Given the description of an element on the screen output the (x, y) to click on. 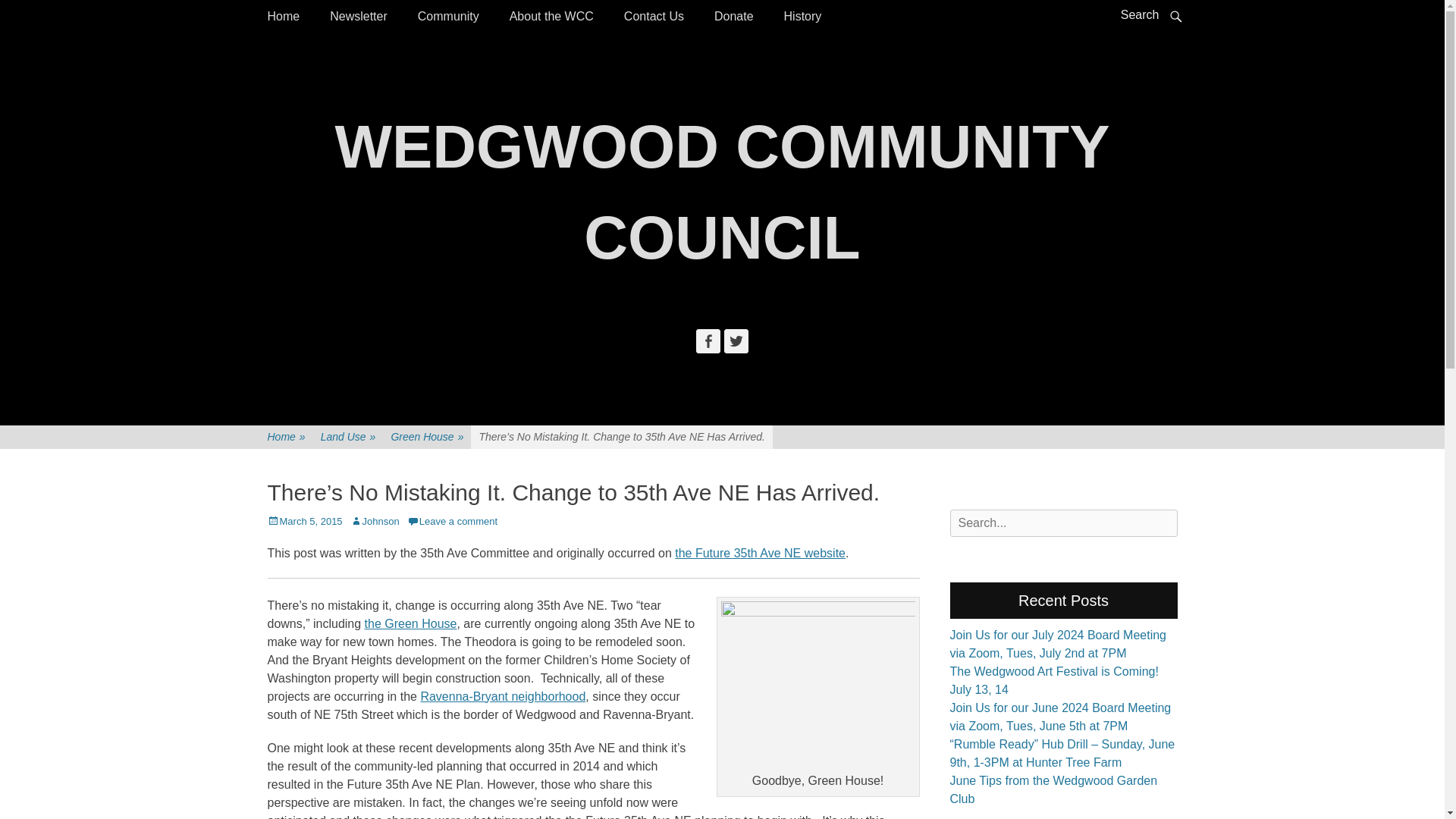
Search for: (1062, 523)
Contact Us (653, 16)
Home (282, 16)
Leave a comment (452, 521)
About the WCC (551, 16)
History (802, 16)
Donate (733, 16)
March 5, 2015 (304, 521)
Twitter (735, 340)
Ravenna-Bryant neighborhood (502, 696)
Facebook (707, 340)
Newsletter (358, 16)
Community (449, 16)
Johnson (374, 521)
the Green House (411, 623)
